Given the description of an element on the screen output the (x, y) to click on. 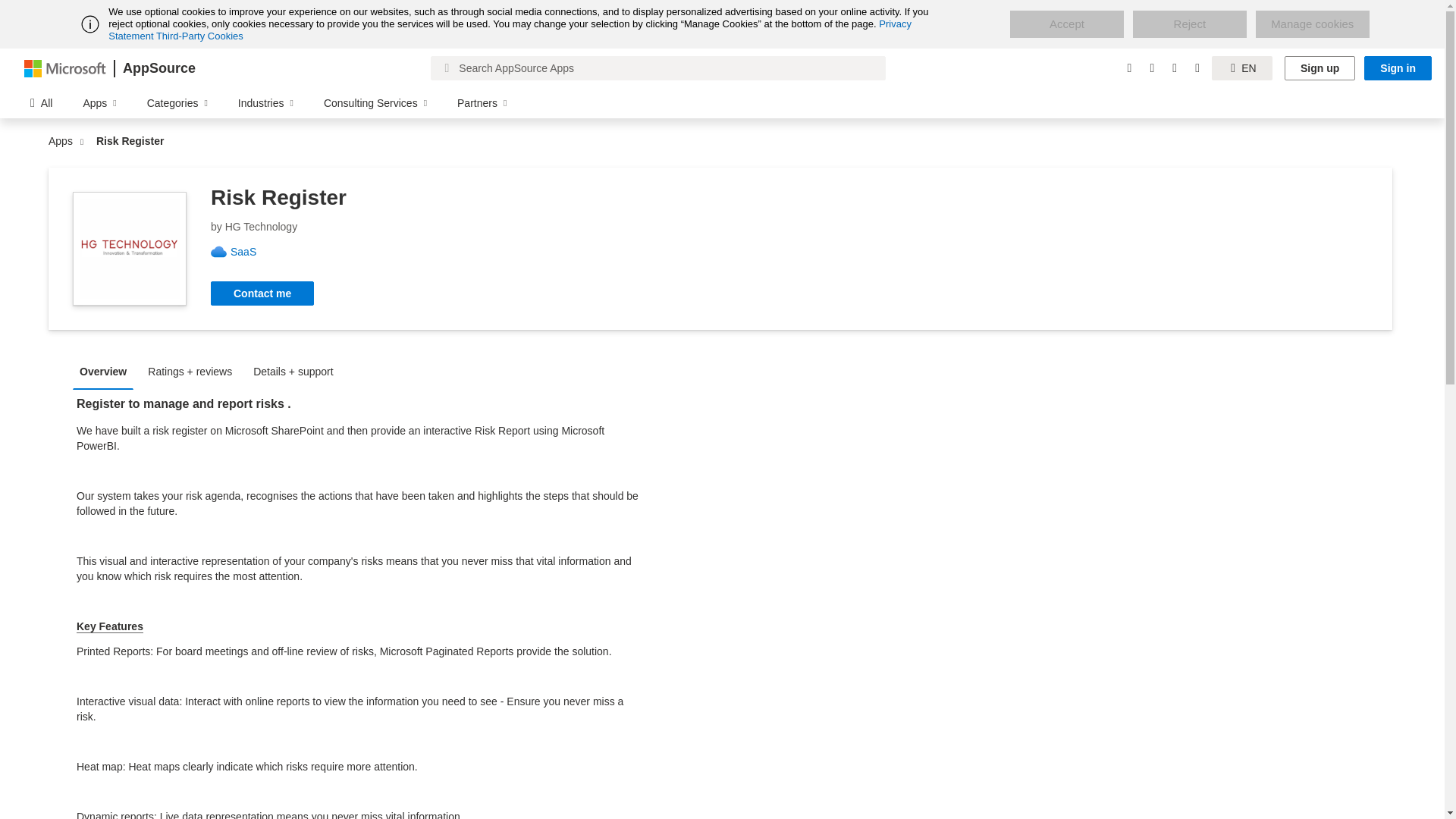
Sign in (1397, 68)
SaaS (248, 251)
SaaS (248, 251)
Apps (64, 141)
Overview (106, 370)
Microsoft (65, 67)
Privacy Statement (509, 29)
Third-Party Cookies (199, 35)
Accept (1067, 23)
Contact me (262, 293)
